Given the description of an element on the screen output the (x, y) to click on. 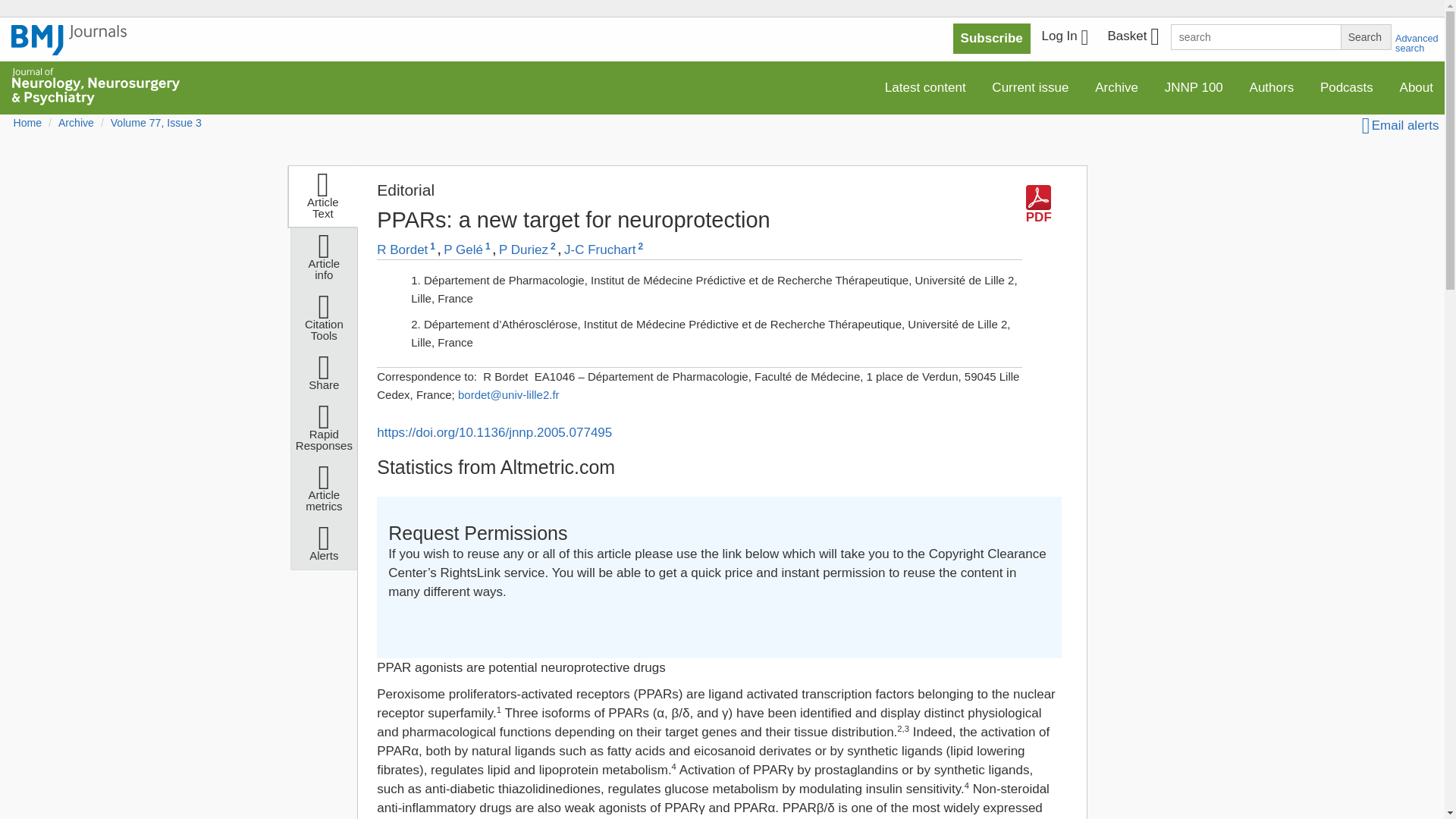
Subscribe (991, 38)
Authors (1272, 87)
Podcasts (1346, 87)
Search (1364, 36)
JNNP 100 (1193, 87)
Latest content (924, 87)
Archive (1116, 87)
Search (1364, 36)
BMJ Journals (68, 40)
Advanced search (1416, 43)
Log In (1064, 38)
Basket (1132, 38)
BMJ Journals (68, 47)
Current issue (1029, 87)
